Given the description of an element on the screen output the (x, y) to click on. 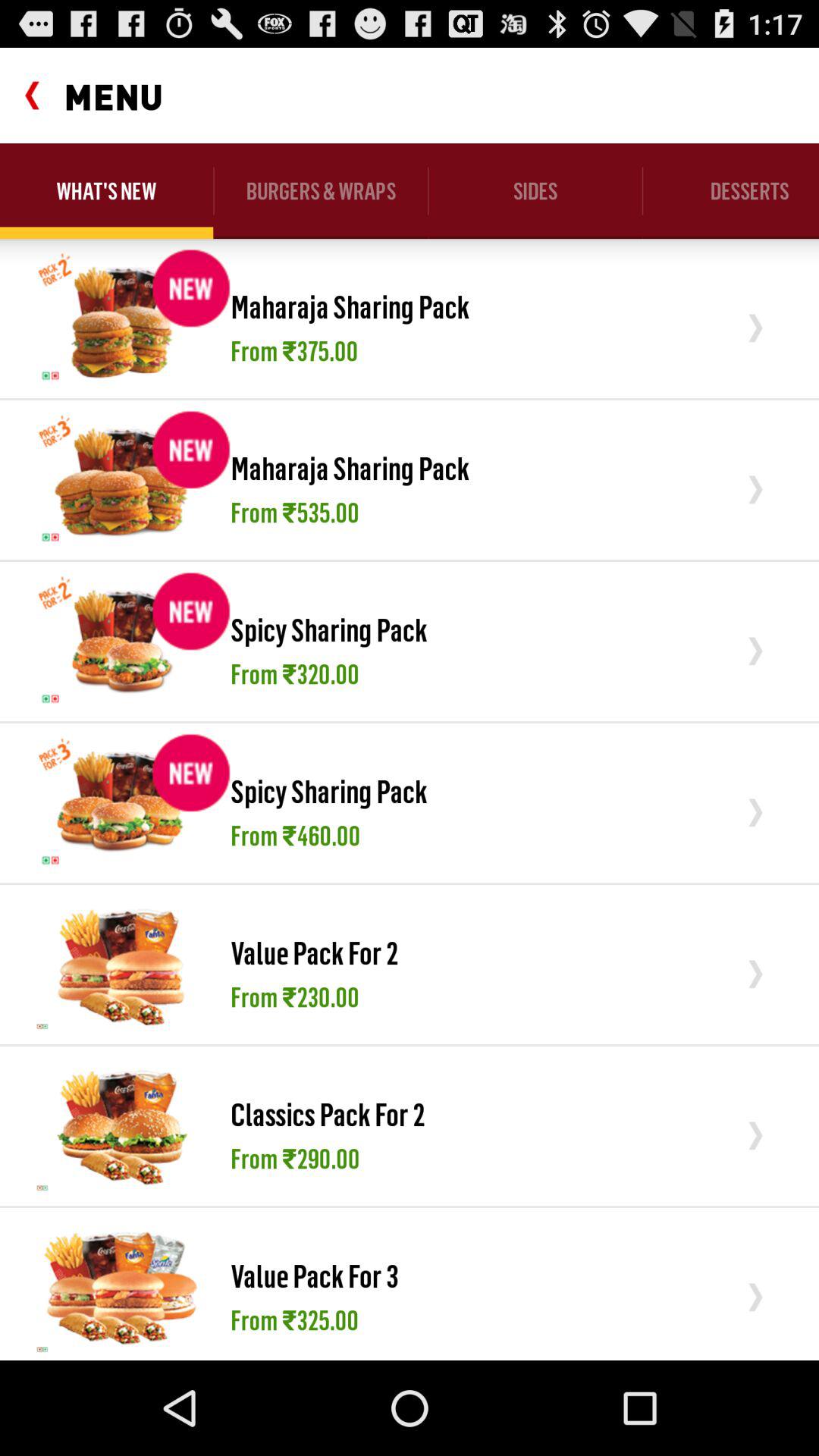
launch the item next to spicy sharing pack item (121, 802)
